Given the description of an element on the screen output the (x, y) to click on. 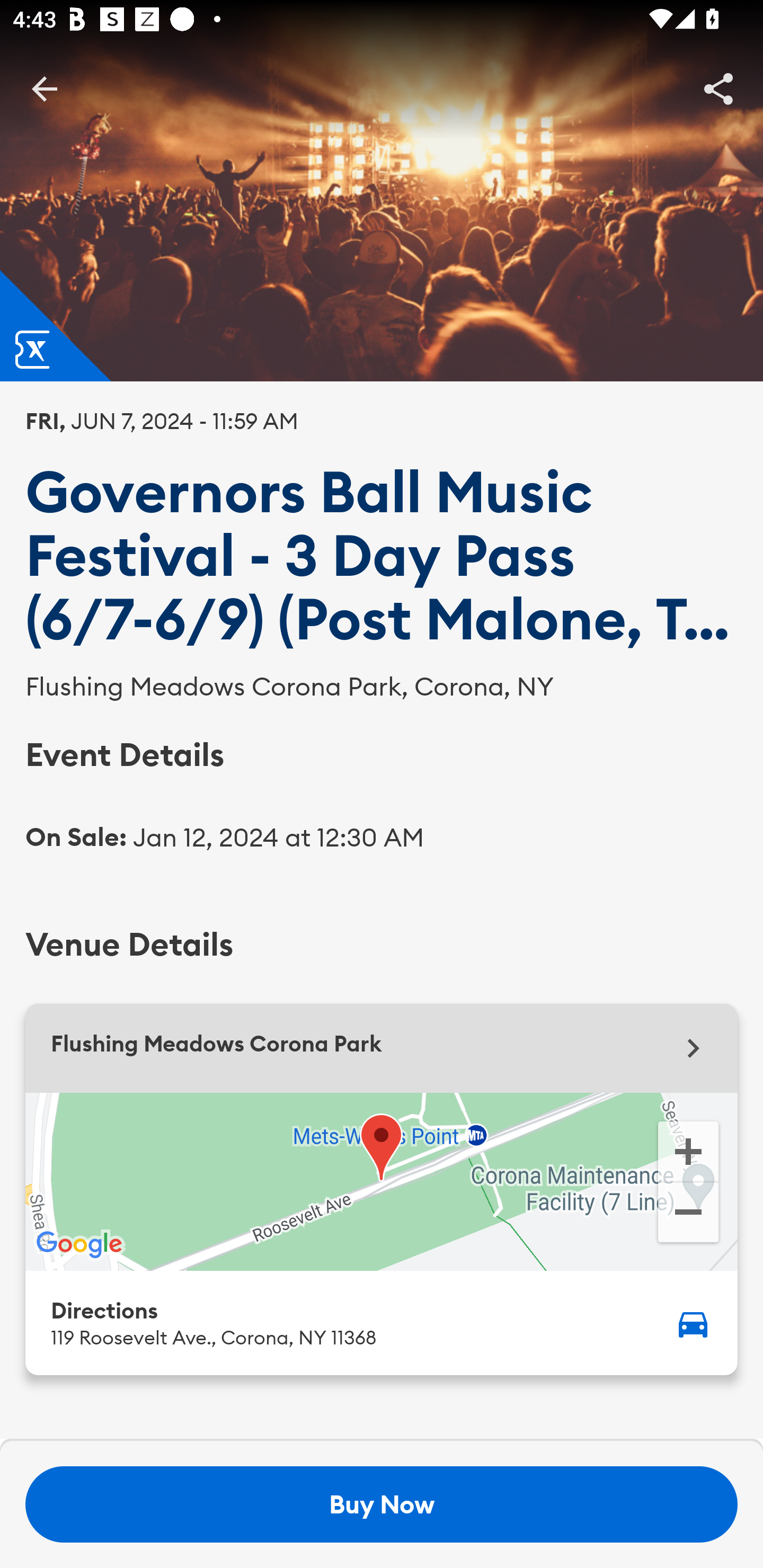
BackButton (44, 88)
Share (718, 88)
Flushing Meadows Corona Park (381, 1047)
Zoom in (687, 1149)
Zoom out (687, 1214)
Directions 119 Roosevelt Ave., Corona, NY 11368 (381, 1322)
Buy Now (381, 1504)
